Given the description of an element on the screen output the (x, y) to click on. 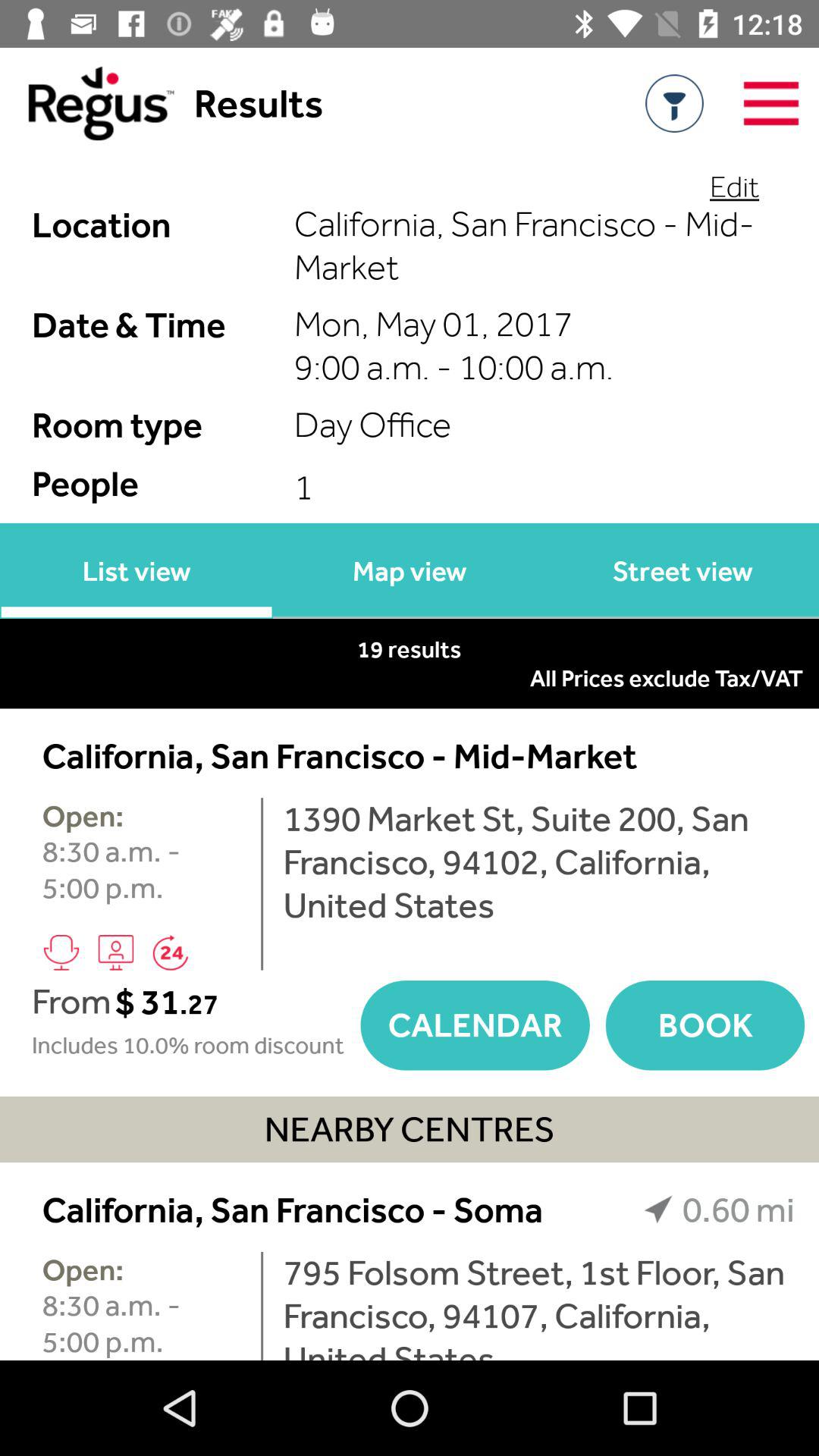
scroll until nearby centres icon (409, 1129)
